Given the description of an element on the screen output the (x, y) to click on. 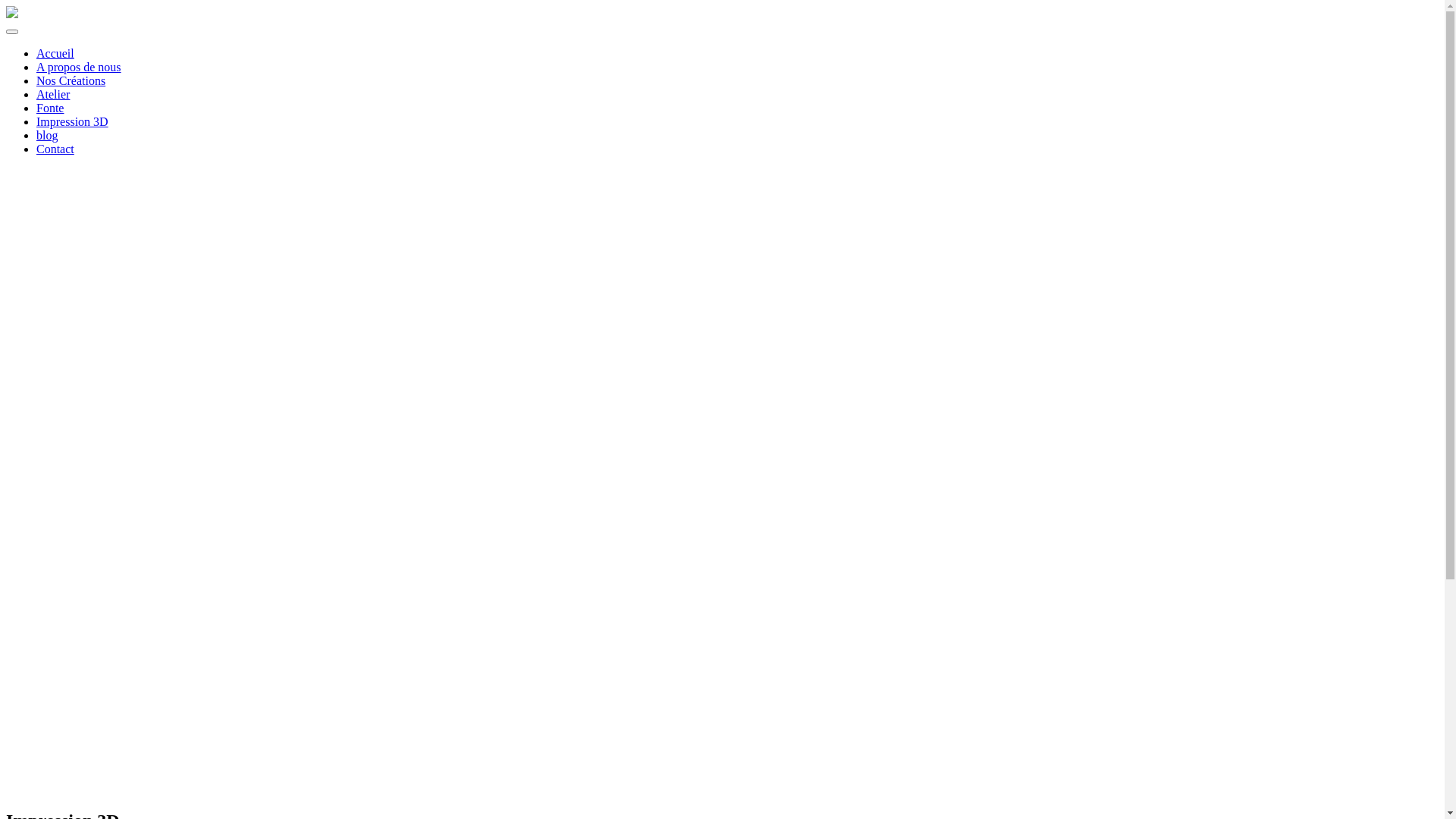
Atelier Element type: text (52, 93)
Accueil Element type: text (55, 53)
A propos de nous Element type: text (78, 66)
blog Element type: text (46, 134)
Impression 3D Element type: text (72, 121)
Fonte Element type: text (49, 107)
Contact Element type: text (55, 148)
